Given the description of an element on the screen output the (x, y) to click on. 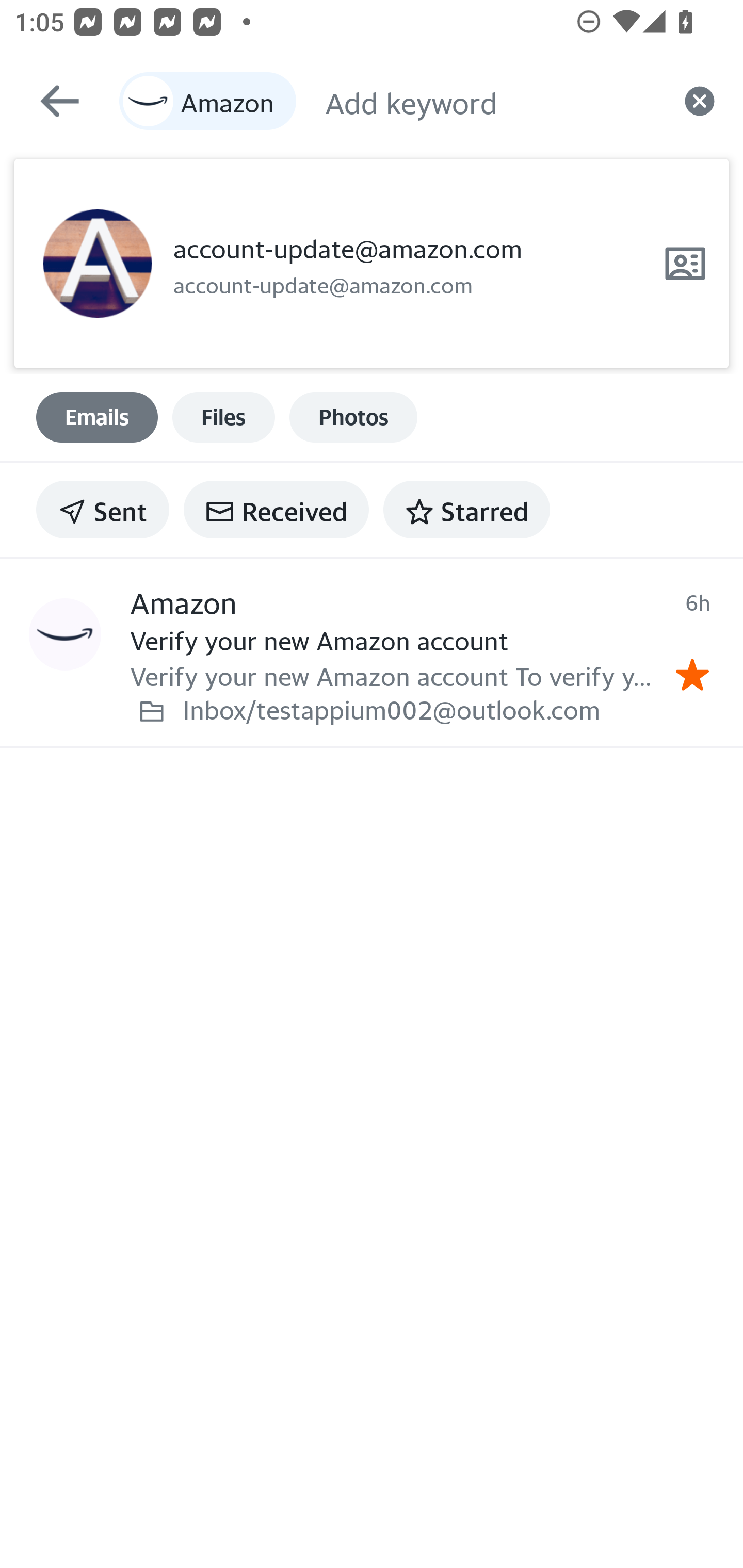
Back (50, 101)
Add keyword (490, 101)
Clear (699, 101)
Profile (97, 264)
Emails (96, 417)
Files (223, 417)
Photos (353, 417)
Sent (102, 509)
Received (276, 509)
Starred (466, 509)
Profile
Amazon (64, 634)
Remove star. (692, 674)
